Given the description of an element on the screen output the (x, y) to click on. 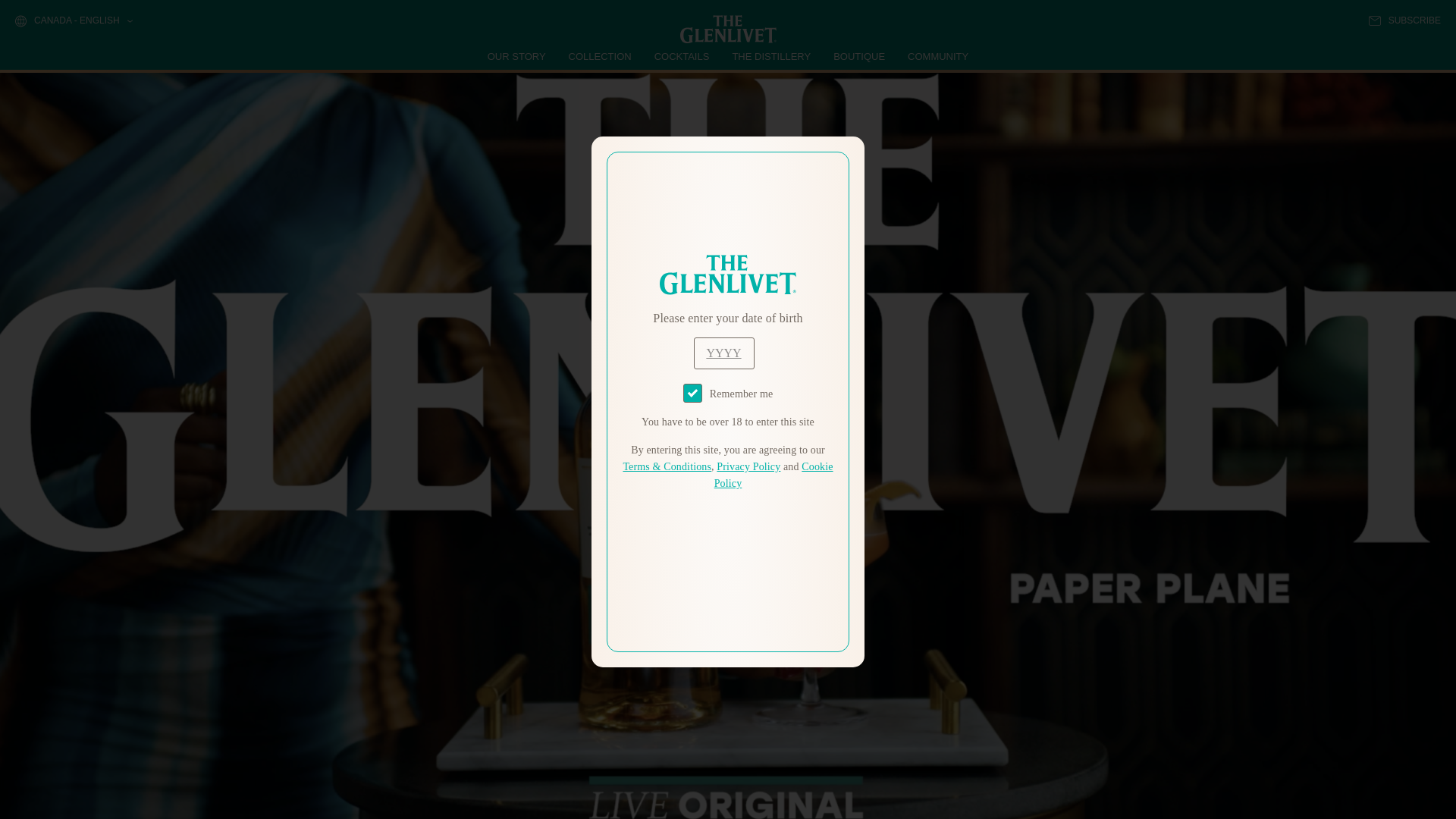
BOUTIQUE (858, 56)
year (723, 353)
OUR STORY (516, 56)
SUBSCRIBE (1404, 20)
Cookie Policy (773, 474)
Privacy Policy (748, 466)
COLLECTION (600, 56)
CANADA - ENGLISH (73, 21)
COCKTAILS (681, 56)
COMMUNITY (937, 56)
